Given the description of an element on the screen output the (x, y) to click on. 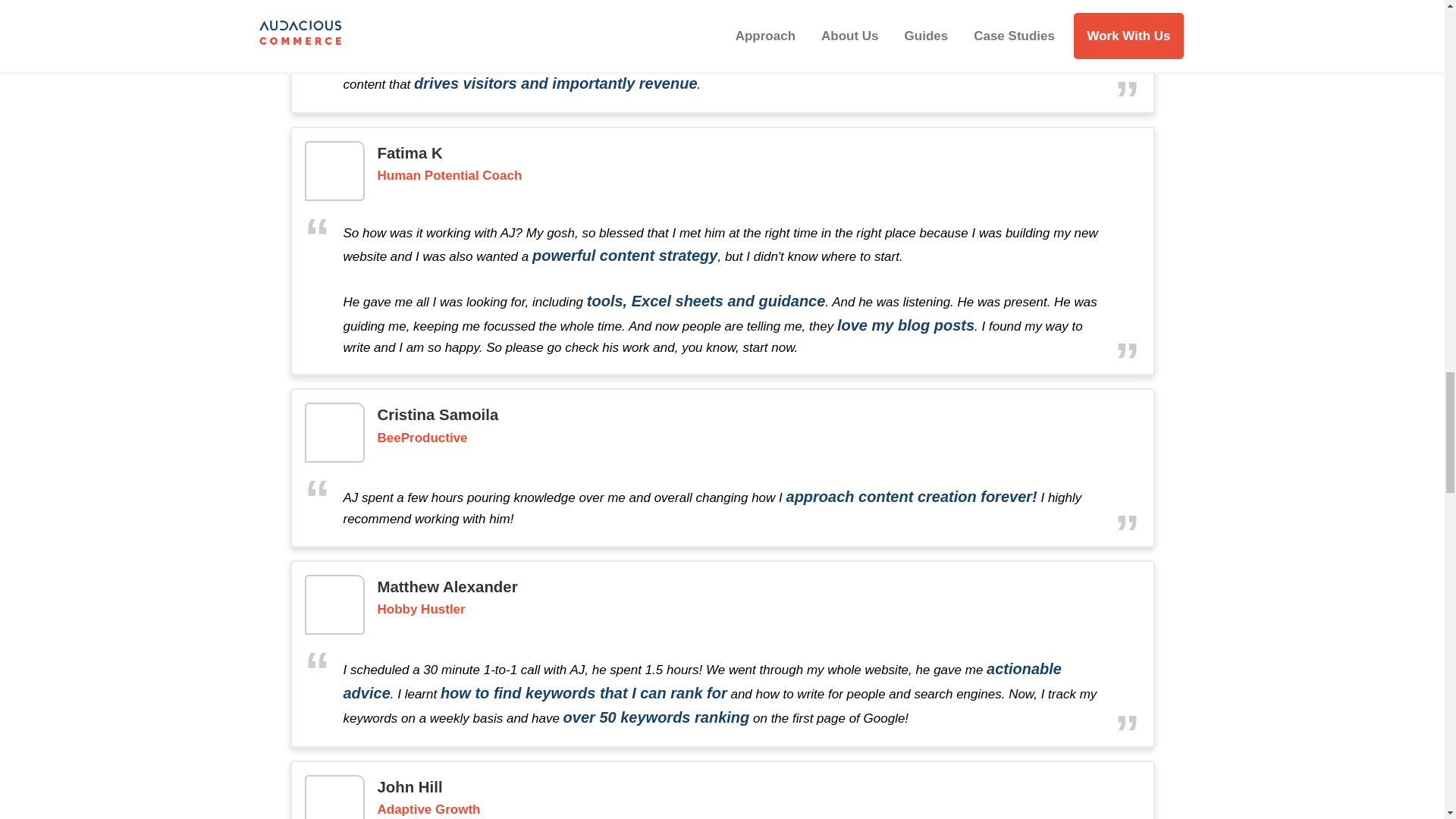
Content Creation for CEOs (459, 4)
Hobby Hustler (421, 609)
Adaptive Growth (428, 810)
Human Potential Coach (449, 176)
BeeProductive (422, 438)
